Given the description of an element on the screen output the (x, y) to click on. 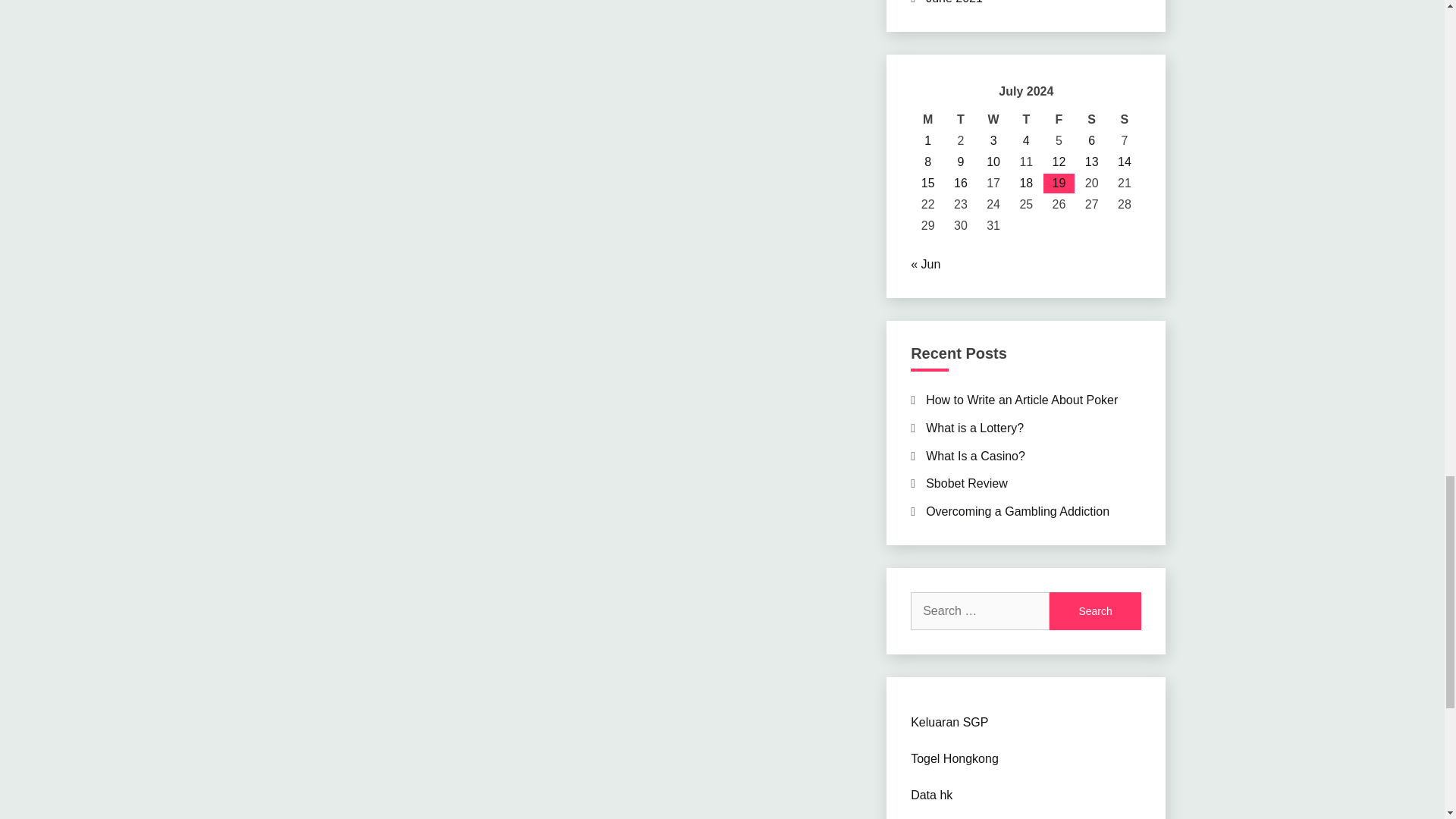
Tuesday (959, 119)
Thursday (1026, 119)
Search (1095, 610)
Monday (927, 119)
Saturday (1090, 119)
Search (1095, 610)
Wednesday (993, 119)
Sunday (1124, 119)
Friday (1058, 119)
